Given the description of an element on the screen output the (x, y) to click on. 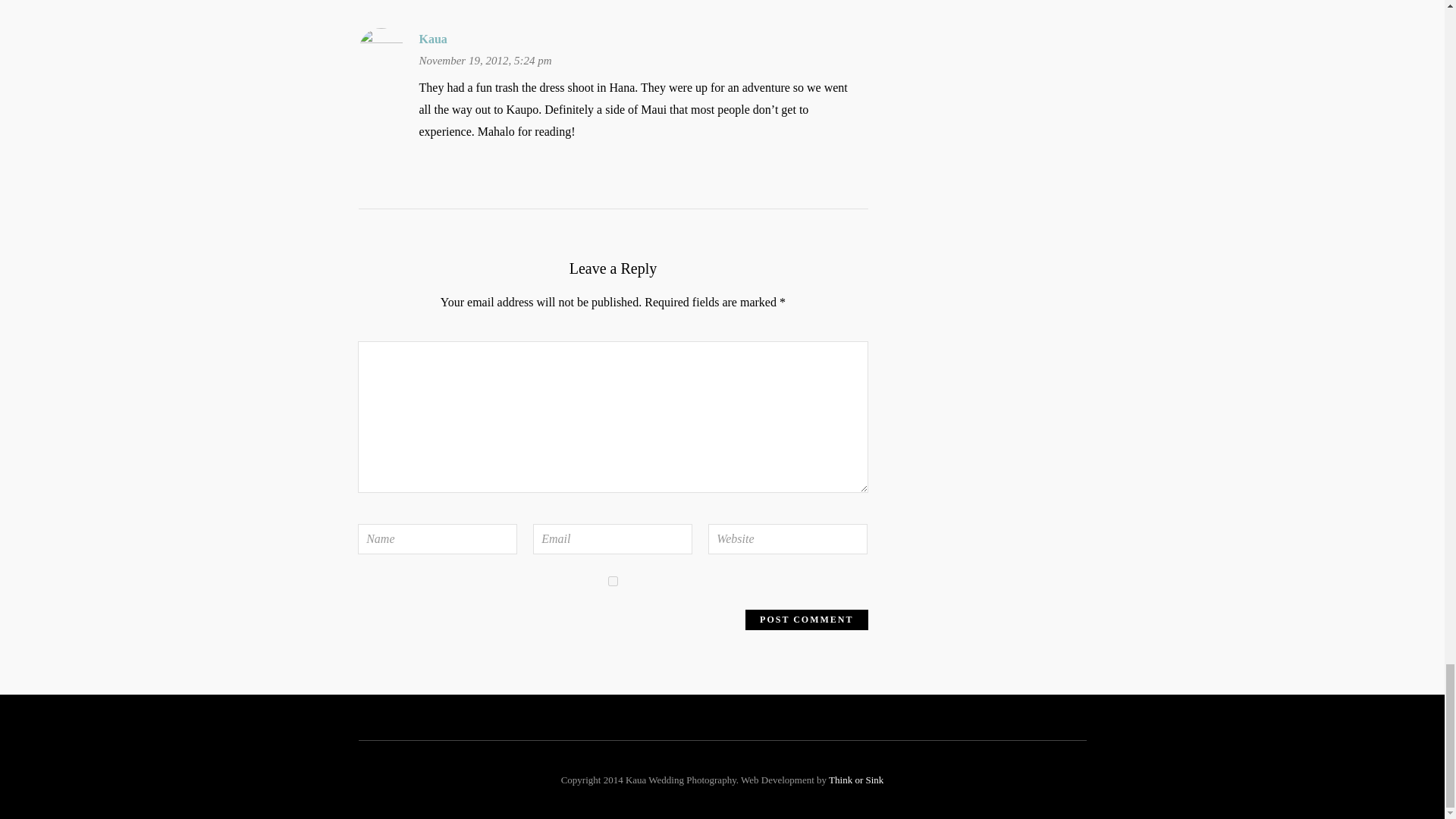
yes (612, 581)
Post Comment (806, 619)
